Given the description of an element on the screen output the (x, y) to click on. 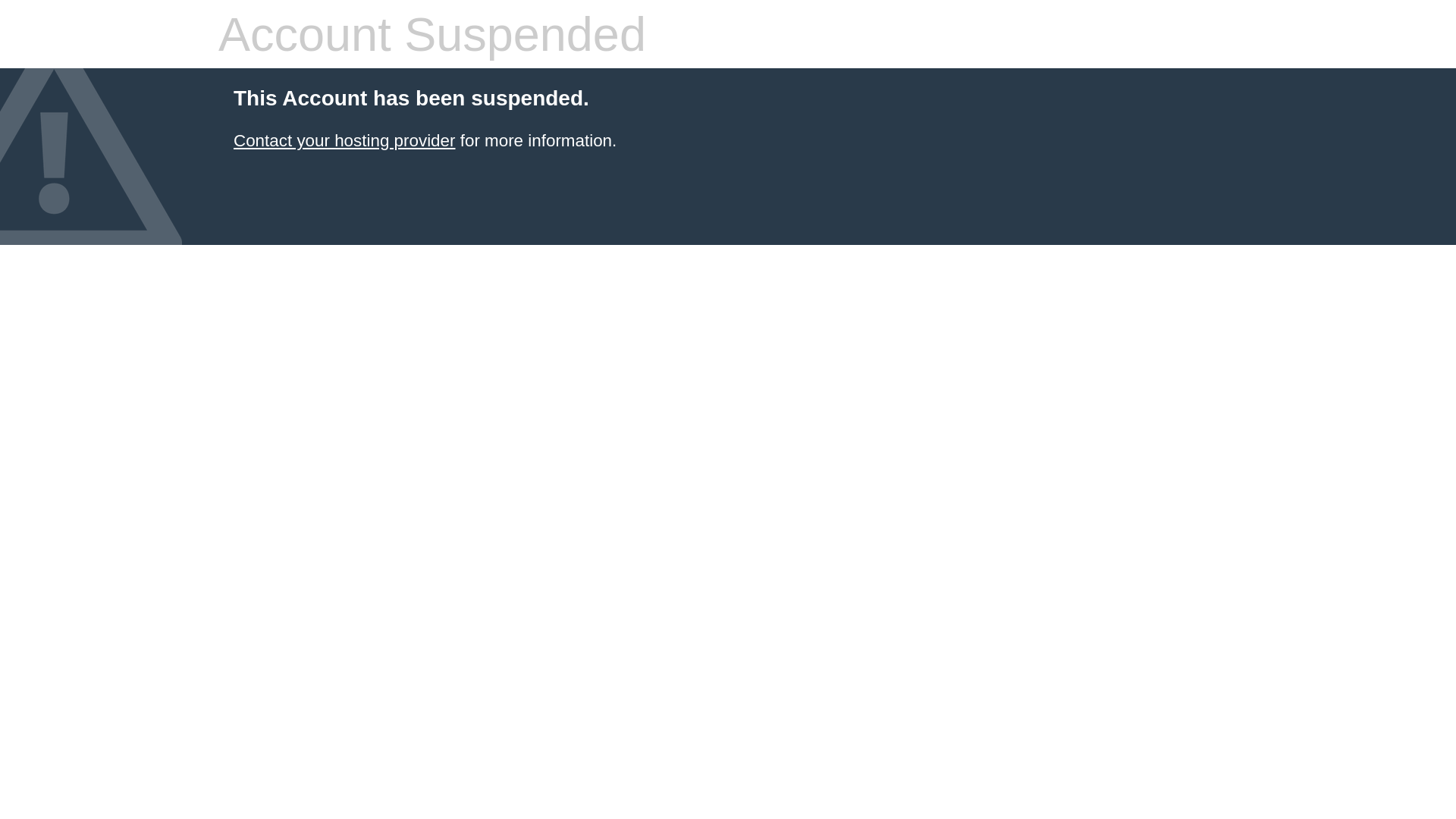
Contact your hosting provider Element type: text (344, 140)
